Given the description of an element on the screen output the (x, y) to click on. 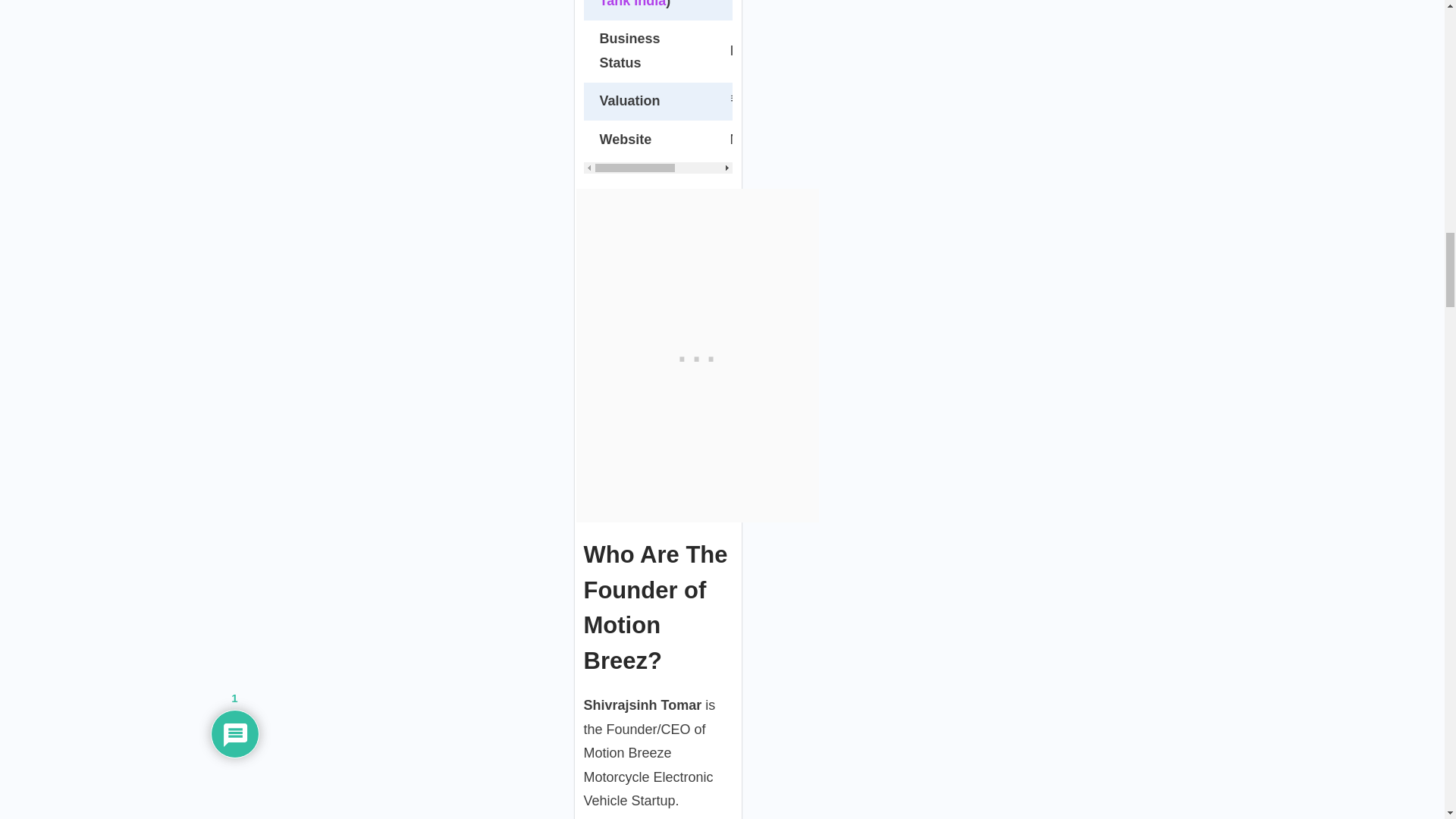
Shark Tank India (648, 4)
